Given the description of an element on the screen output the (x, y) to click on. 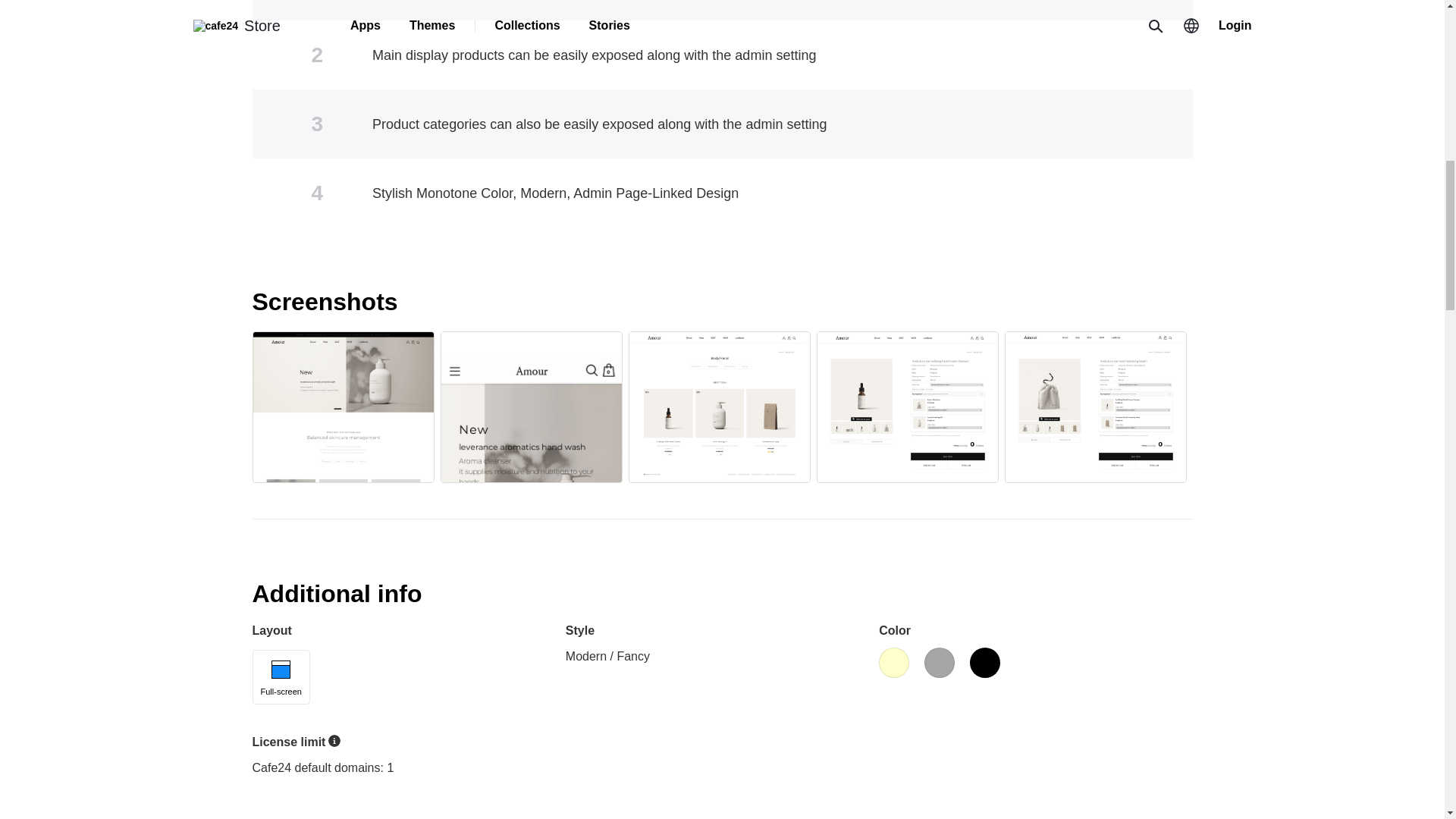
Gray (939, 662)
Ivory (893, 662)
Black (984, 662)
